Given the description of an element on the screen output the (x, y) to click on. 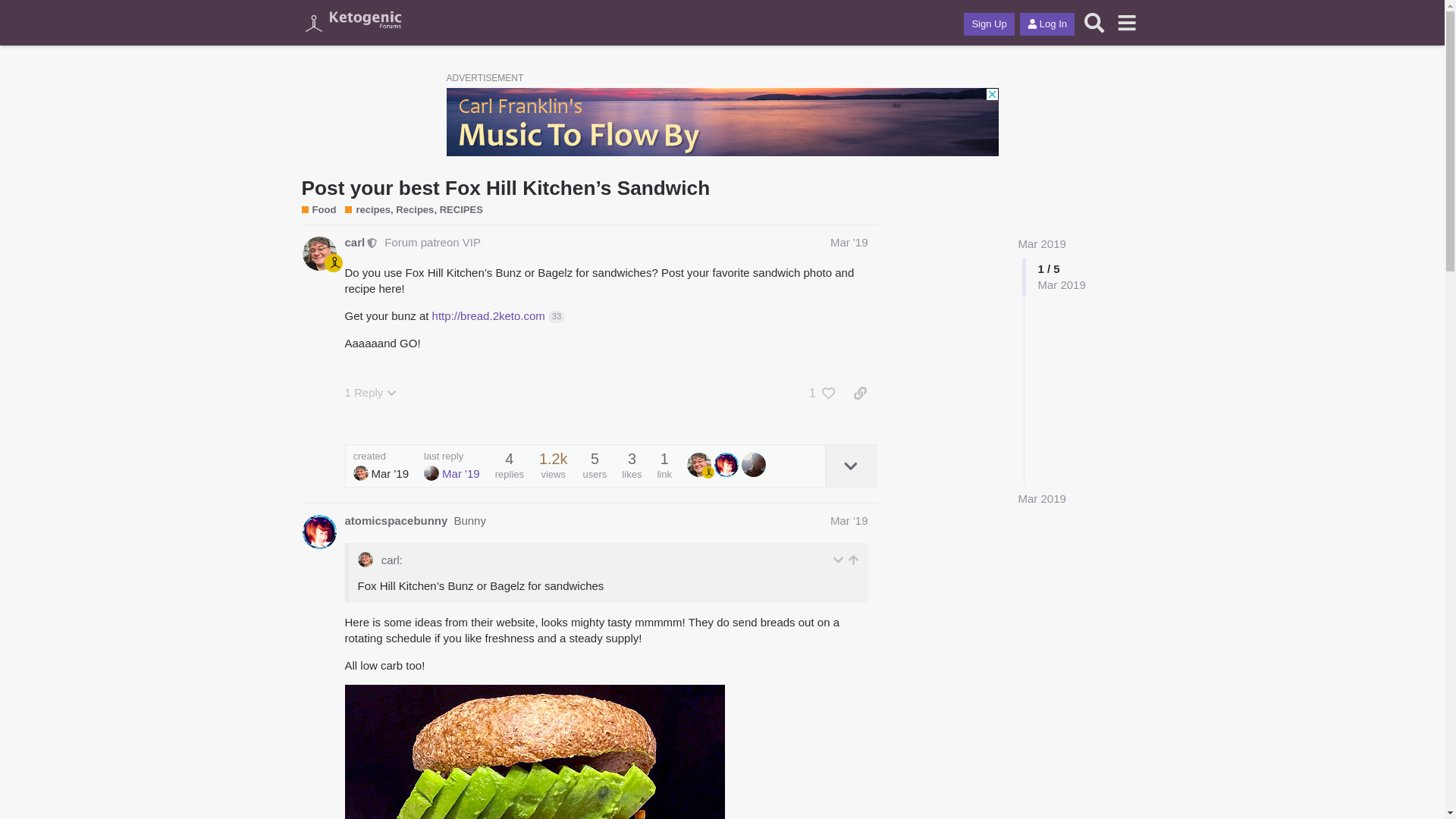
like this post Element type: hover (828, 393)
Bunny Element type: hover (318, 531)
search topics, posts, users, or categories Element type: hover (1094, 22)
last reply
Mar '19 Element type: text (451, 466)
Full Metal KETO AF Element type: hover (431, 472)
carl Element type: text (354, 242)
Sign Up Element type: text (988, 23)
This user is a moderator Element type: hover (372, 241)
go to the quoted post Element type: hover (853, 559)
Mar '19 Element type: text (849, 241)
recipes, Recipes, RECIPES Element type: text (414, 209)
Full Metal KETO AF Element type: hover (753, 464)
share a link to this post Element type: hover (860, 393)
Bunny Element type: text (469, 520)
carl Element type: hover (699, 464)
Forum patreon VIP Element type: text (432, 241)
expand/collapse Element type: hover (838, 559)
Bunny Element type: hover (726, 464)
1 Element type: text (807, 393)
1 Reply Element type: text (370, 392)
forum_patreon_VIP Element type: hover (708, 472)
http://bread.2keto.com 33 Element type: text (498, 315)
Mar 2019 Element type: text (1041, 243)
Log In Element type: text (1046, 23)
Mar 2019 Element type: text (1041, 498)
Food Element type: text (318, 209)
carl Element type: hover (360, 472)
atomicspacebunny Element type: text (395, 520)
go to another topic list or category Element type: hover (1126, 22)
carl Element type: hover (318, 253)
forum_patreon_VIP Element type: hover (333, 263)
toggle topic details Element type: hover (850, 465)
3rd party ad content Element type: hover (721, 121)
Mar '19 Element type: text (849, 520)
